Given the description of an element on the screen output the (x, y) to click on. 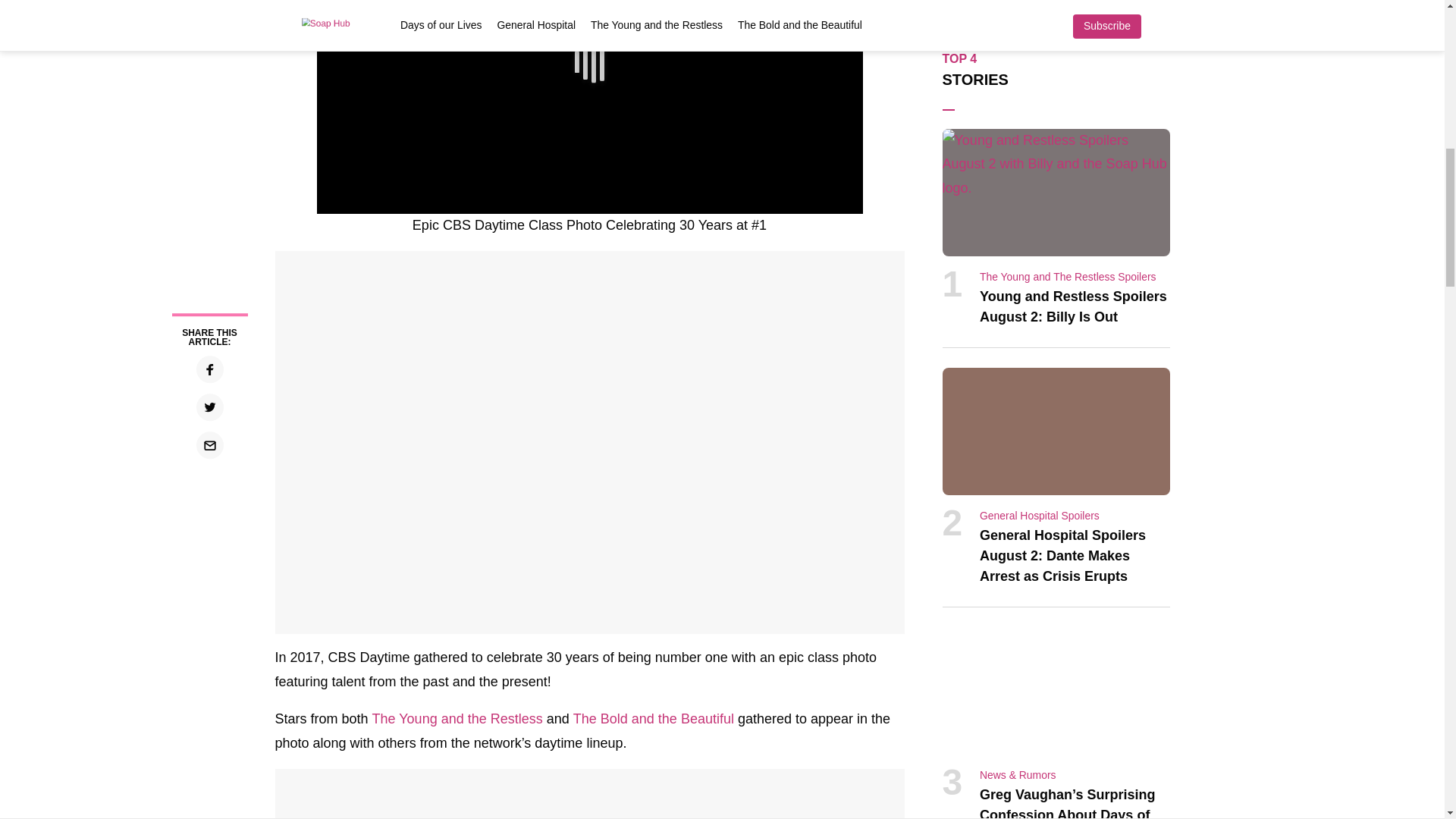
The Young and the Restless (457, 718)
The Bold and the Beautiful (653, 718)
